Given the description of an element on the screen output the (x, y) to click on. 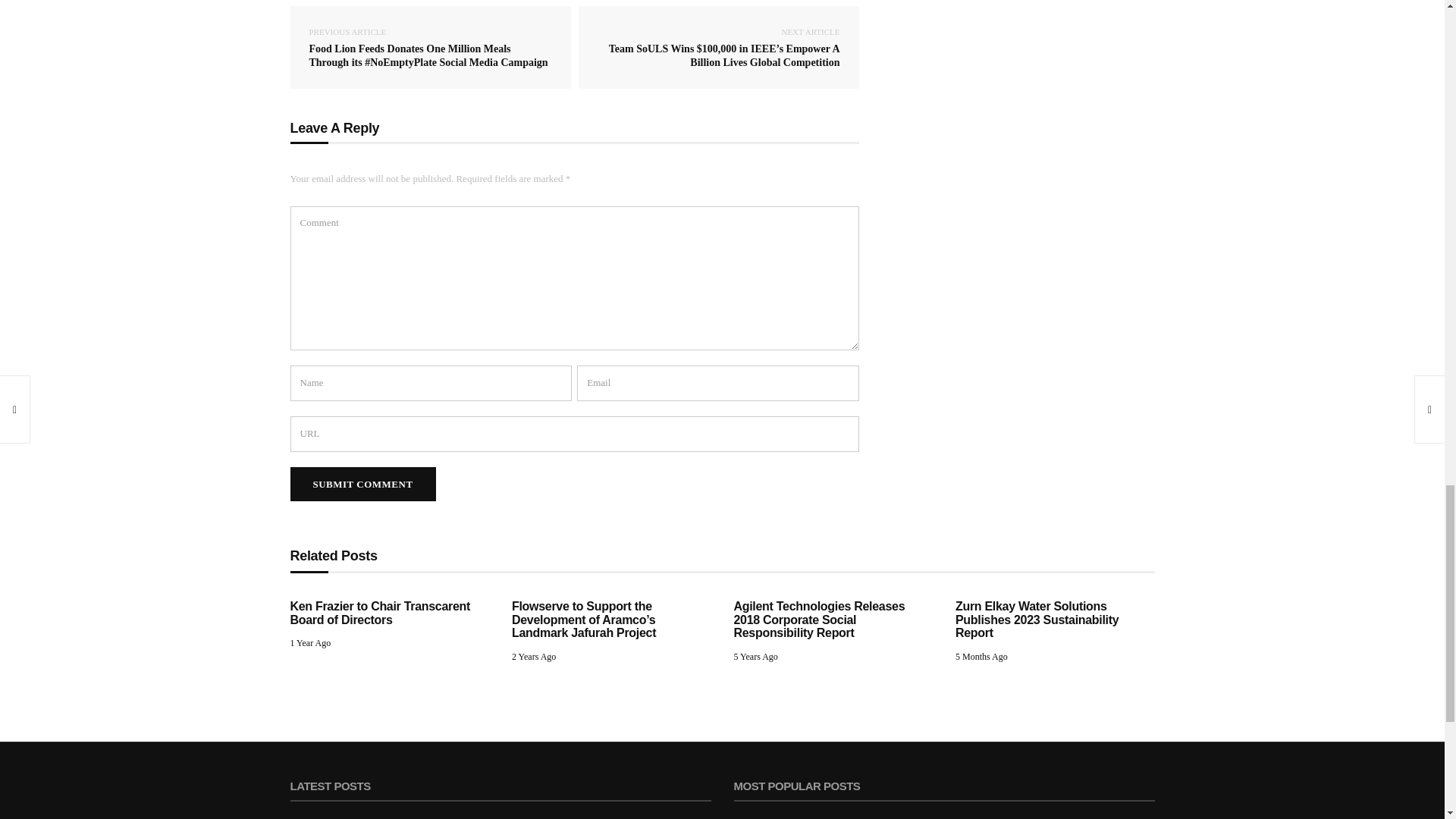
Submit Comment (362, 483)
Ken Frazier to Chair Transcarent Board of Directors (379, 612)
